Given the description of an element on the screen output the (x, y) to click on. 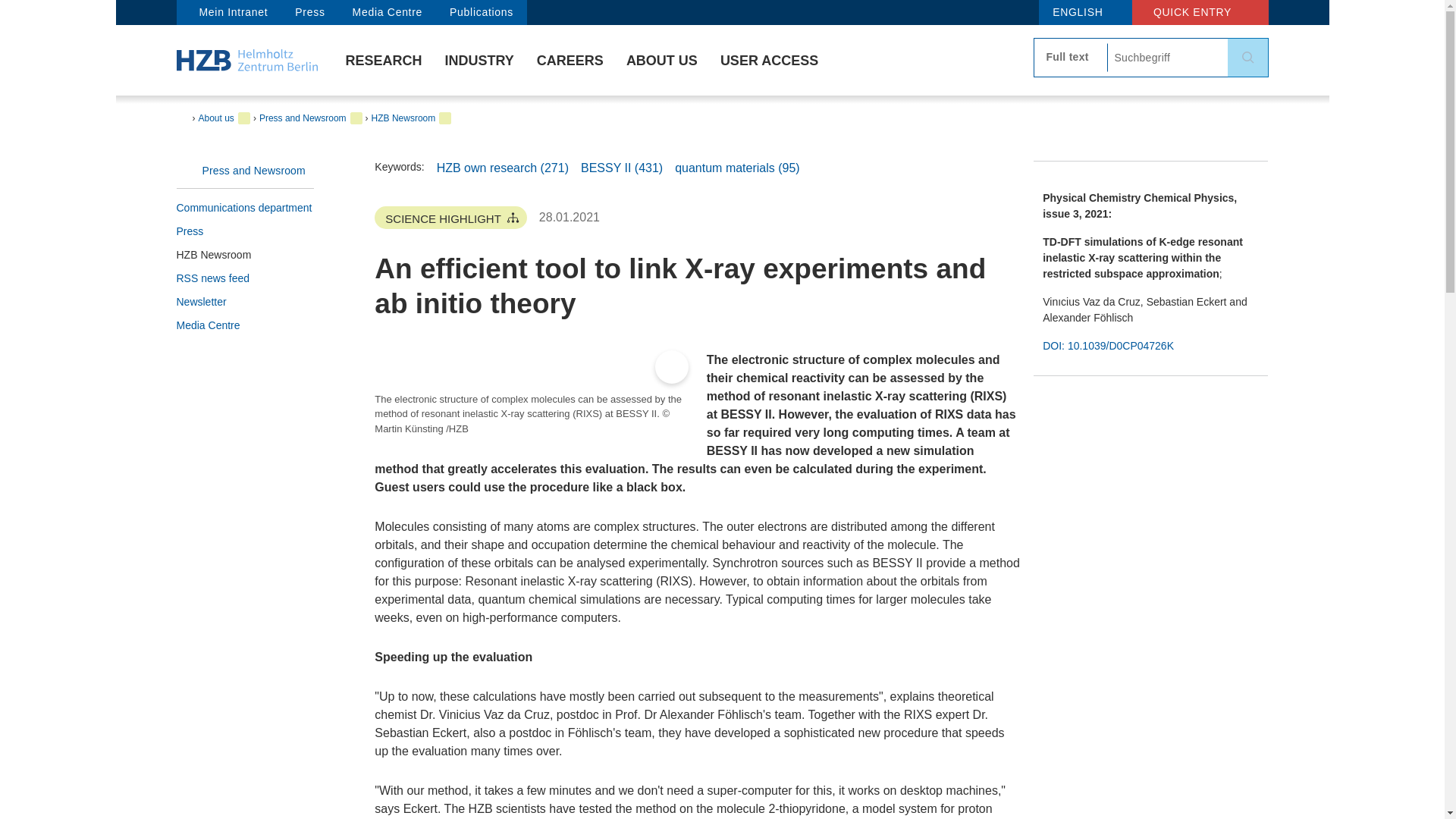
RSS news feed (245, 278)
Mein Intranet (228, 12)
Press and Newsroom (245, 170)
QUICK ENTRY (1199, 12)
Home (246, 60)
Communications department (245, 208)
Publications (481, 12)
Newsletter (245, 301)
Press (309, 12)
Media Centre (387, 12)
